Given the description of an element on the screen output the (x, y) to click on. 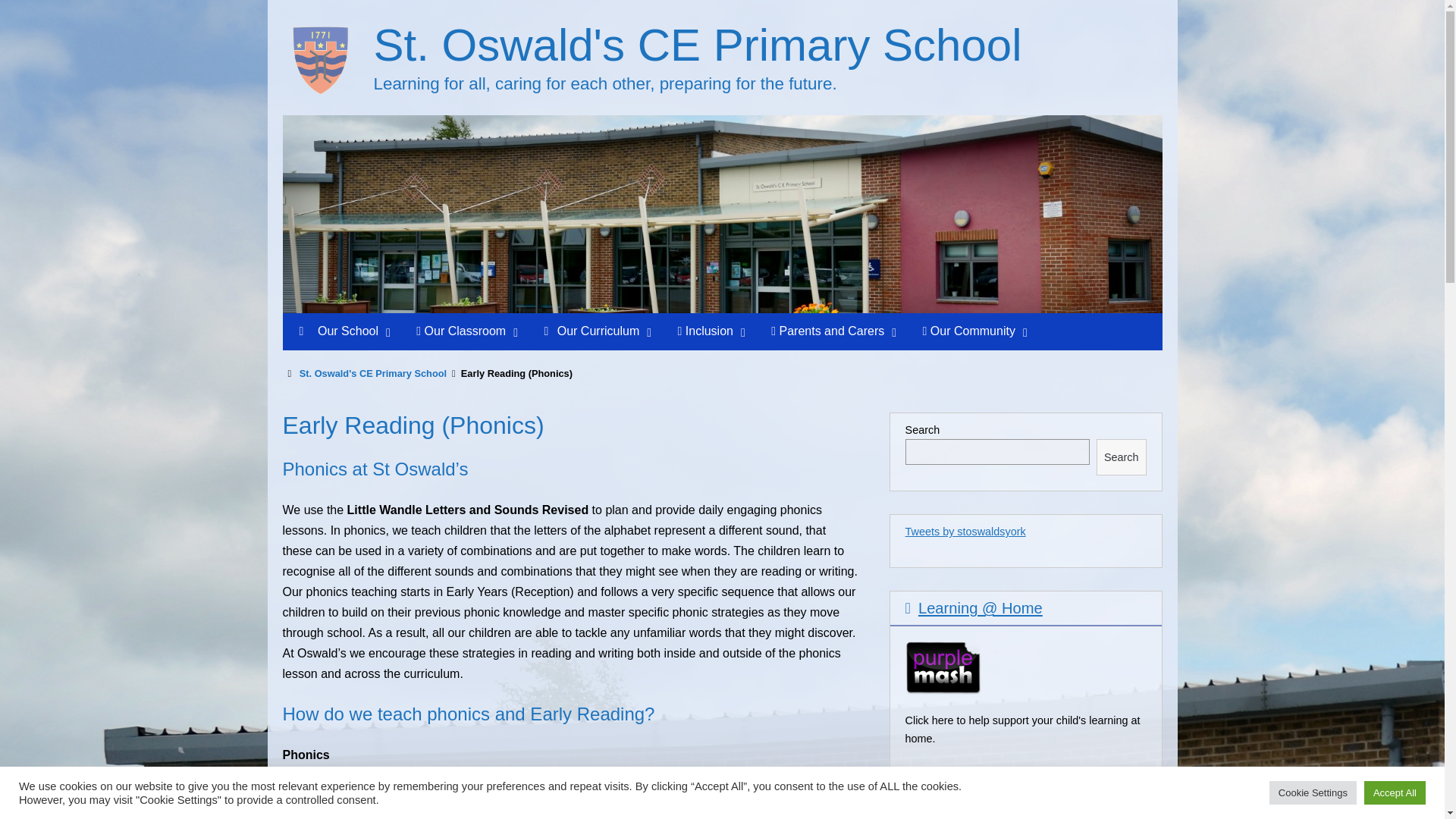
Go to St. Oswald's CE Primary School. (372, 373)
St. Oswald's CE Primary School (697, 44)
Our Classroom (466, 331)
St. Oswald's CE Primary School (697, 44)
Our School (341, 331)
Our Curriculum (597, 331)
